Given the description of an element on the screen output the (x, y) to click on. 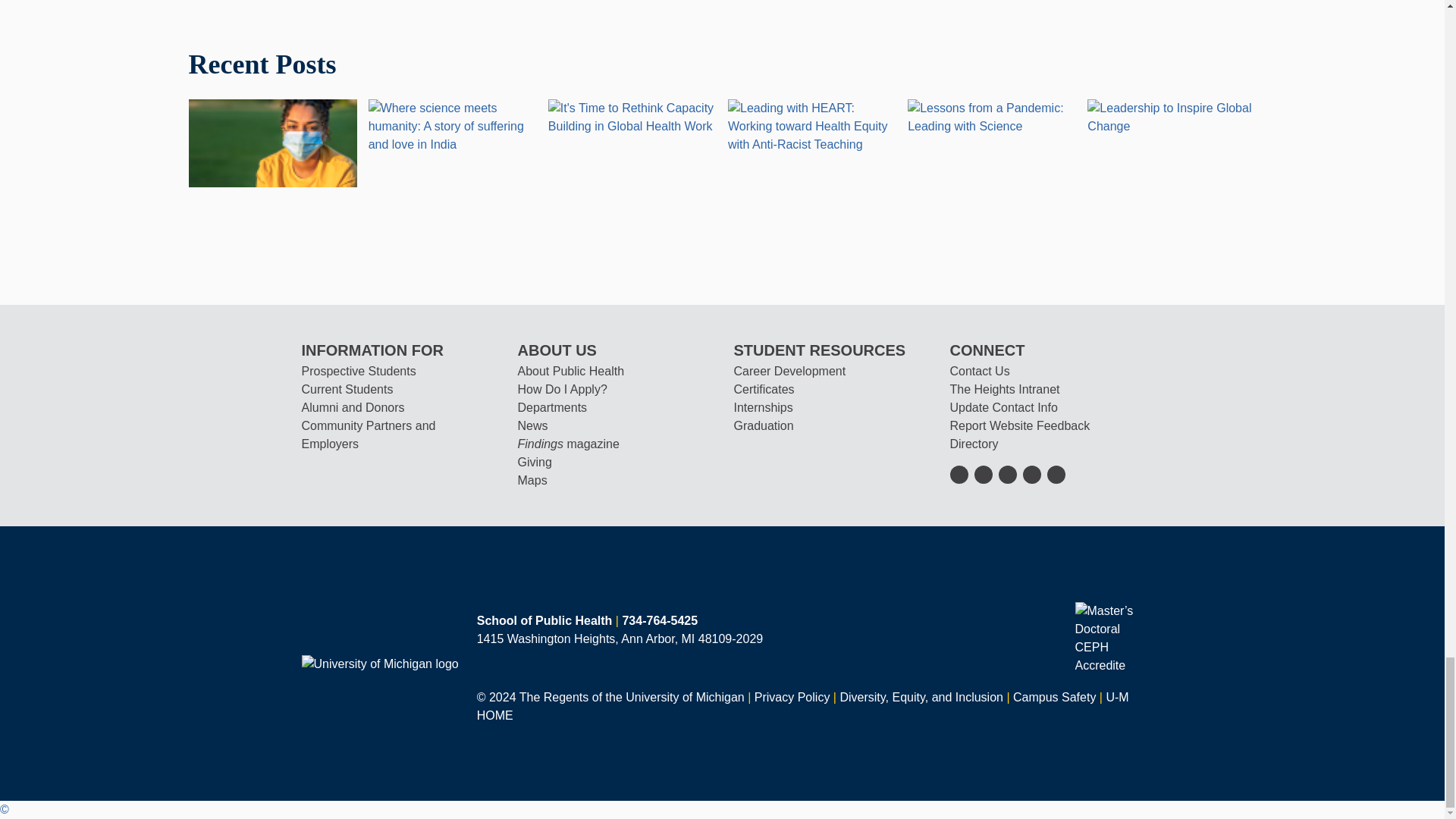
Lessons from a Pandemic: Leading with Science (991, 115)
A Teenager's Guide to Coping with the Pandemic (271, 141)
It's Time to Rethink Capacity Building in Global Health Work (632, 115)
Leadership to Inspire Global Change (1171, 115)
